Given the description of an element on the screen output the (x, y) to click on. 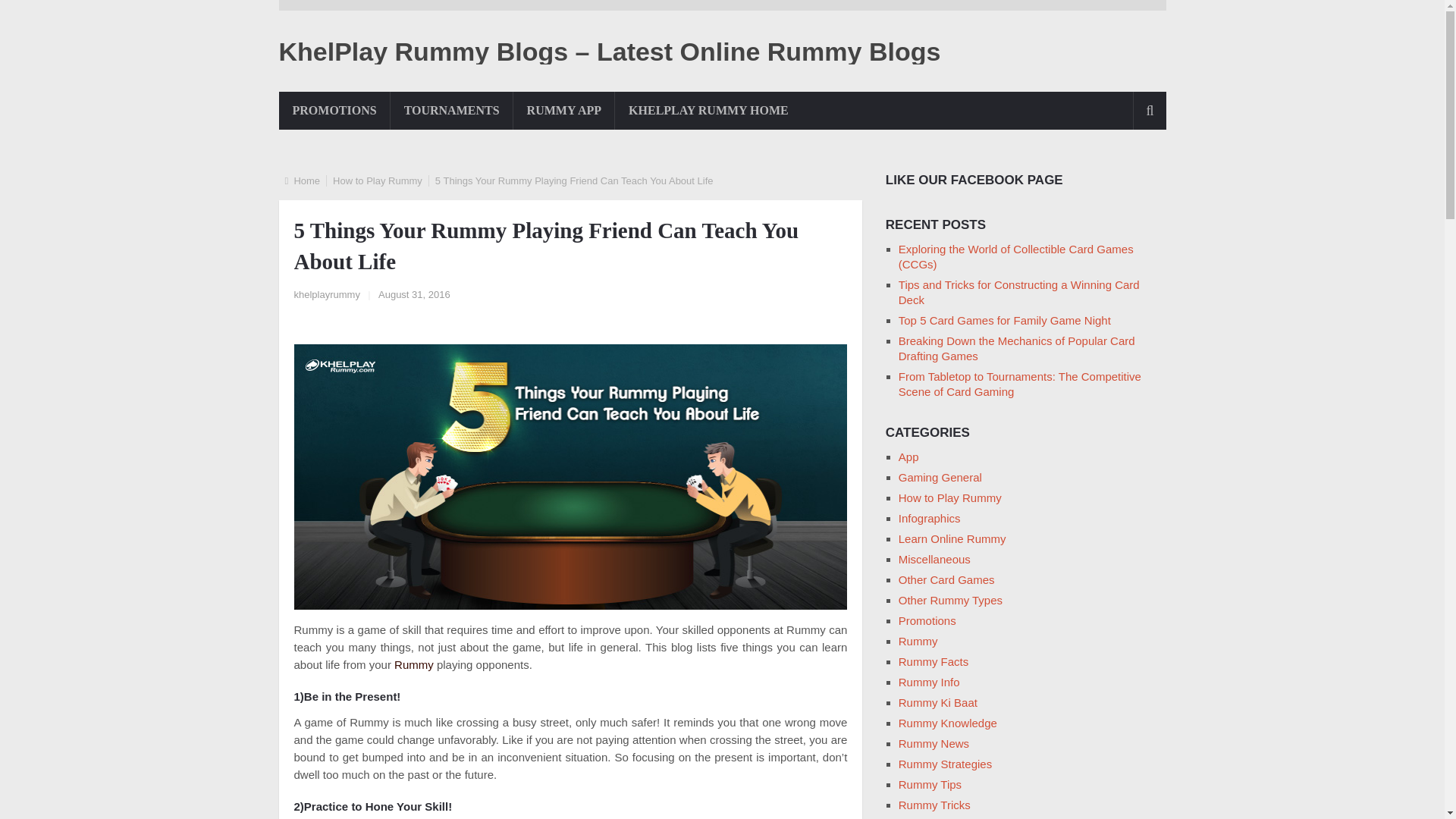
RUMMY APP (564, 110)
Rummy (413, 664)
TOURNAMENTS (451, 110)
KHELPLAY RUMMY HOME (708, 110)
Home (307, 180)
How to Play Rummy (377, 180)
Posts by khelplayrummy (326, 294)
PROMOTIONS (334, 110)
khelplayrummy (326, 294)
